Given the description of an element on the screen output the (x, y) to click on. 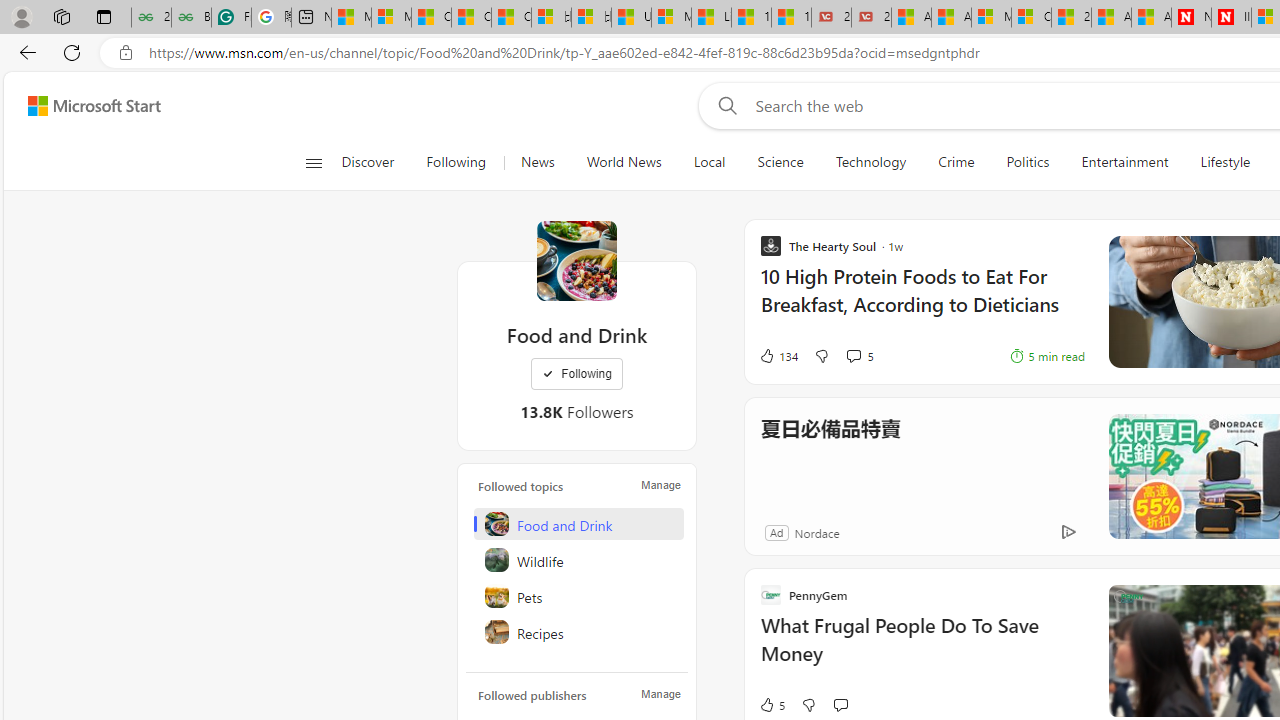
Lifestyle - MSN (711, 17)
Back (24, 52)
World News (623, 162)
Local (709, 162)
Following (457, 162)
Wildlife (578, 560)
Lifestyle (1225, 162)
Ad Choice (1068, 532)
New tab (311, 17)
15 Ways Modern Life Contradicts the Teachings of Jesus (791, 17)
Microsoft Services Agreement (991, 17)
USA TODAY - MSN (631, 17)
Best SSL Certificates Provider in India - GeeksforGeeks (191, 17)
Crime (956, 162)
